Given the description of an element on the screen output the (x, y) to click on. 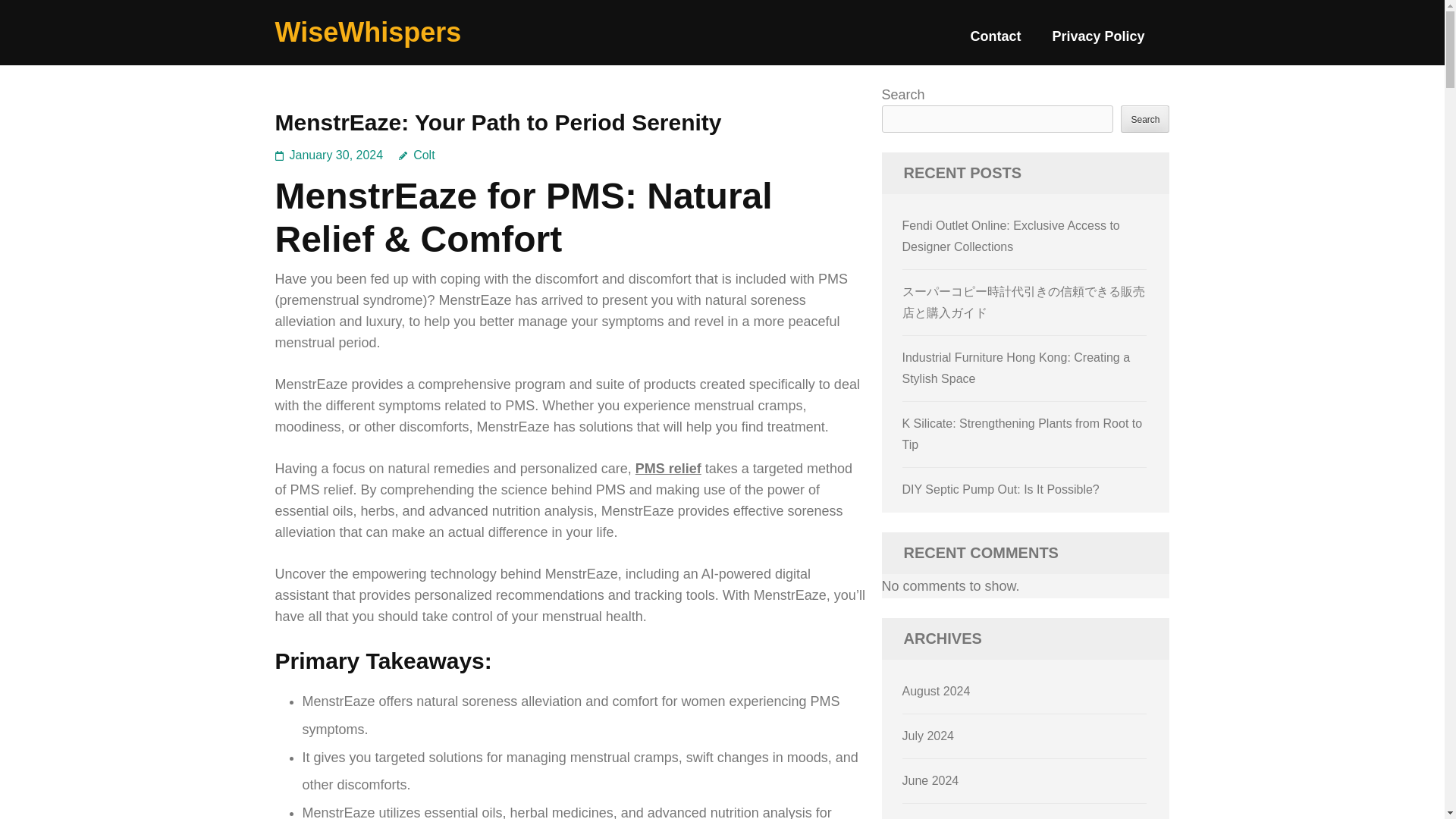
Industrial Furniture Hong Kong: Creating a Stylish Space (1016, 367)
Contact (994, 42)
Privacy Policy (1097, 42)
K Silicate: Strengthening Plants from Root to Tip (1022, 433)
Colt (415, 154)
DIY Septic Pump Out: Is It Possible? (1000, 489)
August 2024 (936, 690)
June 2024 (930, 780)
January 30, 2024 (336, 154)
